Given the description of an element on the screen output the (x, y) to click on. 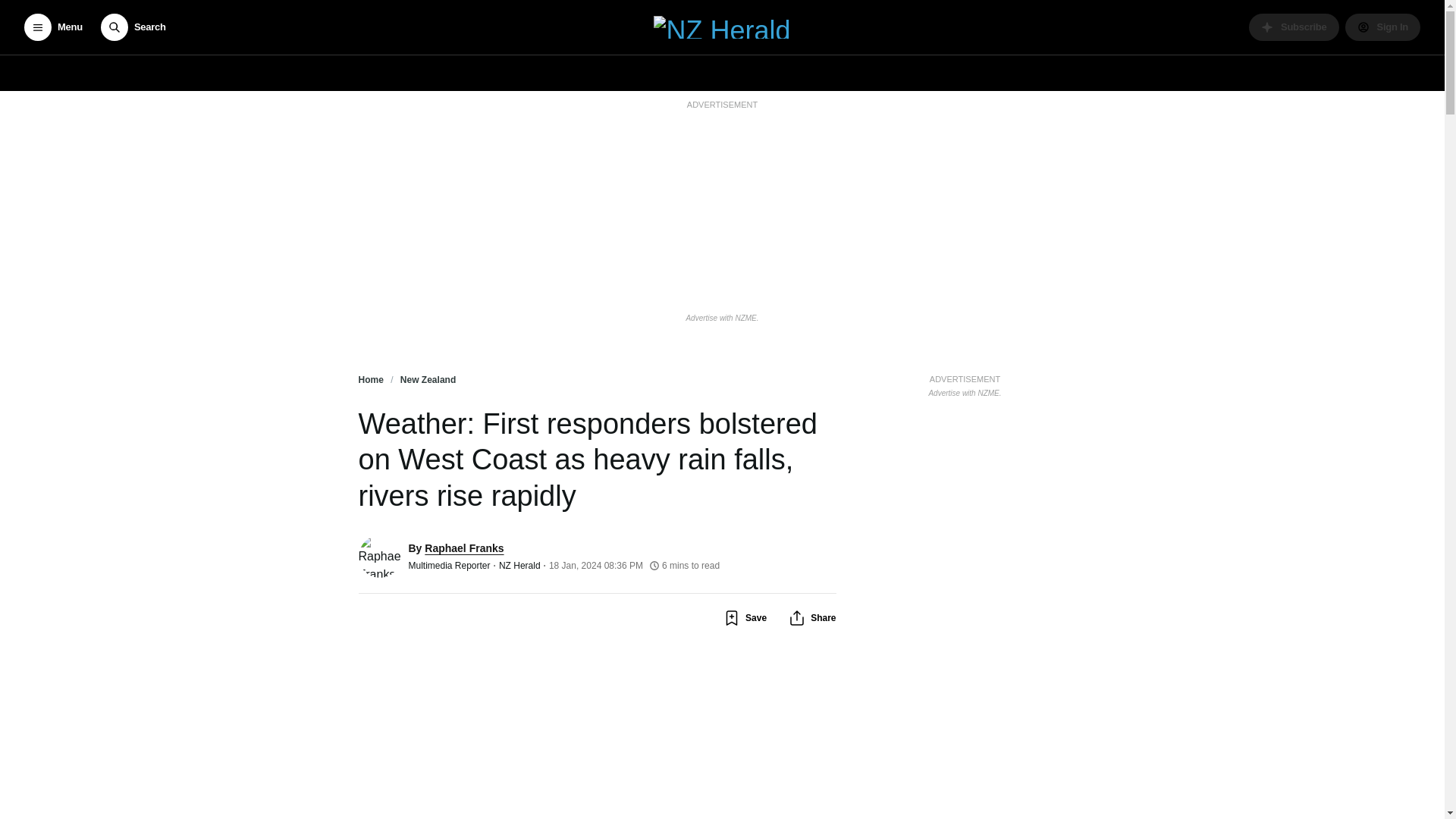
Sign In (1383, 26)
Subscribe (1294, 26)
Search (132, 26)
Manage your account (1383, 26)
Menu (53, 26)
